Given the description of an element on the screen output the (x, y) to click on. 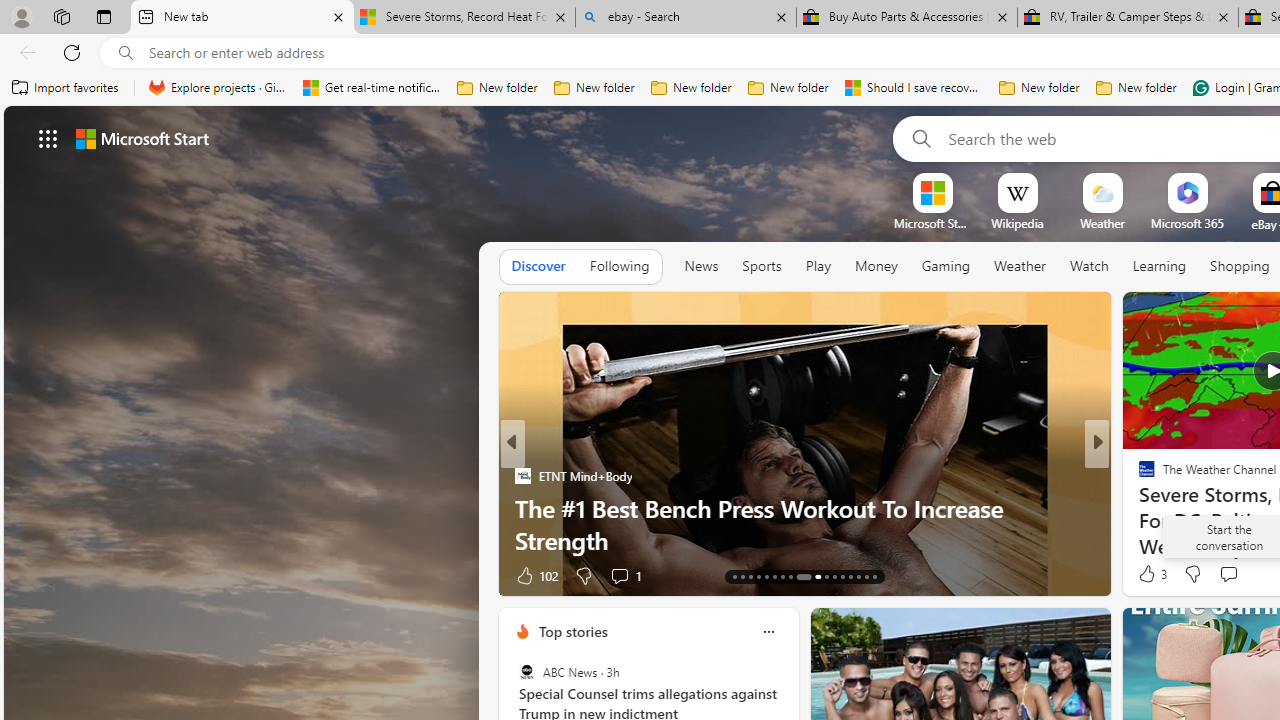
View comments 1 Comment (1234, 575)
AutomationID: tab-27 (857, 576)
Dailymotion (1138, 507)
View comments 167 Comment (1234, 575)
View comments 8 Comment (1234, 574)
AutomationID: tab-25 (842, 576)
AutomationID: tab-21 (797, 576)
The #1 Best Bench Press Workout To Increase Strength (804, 523)
